Given the description of an element on the screen output the (x, y) to click on. 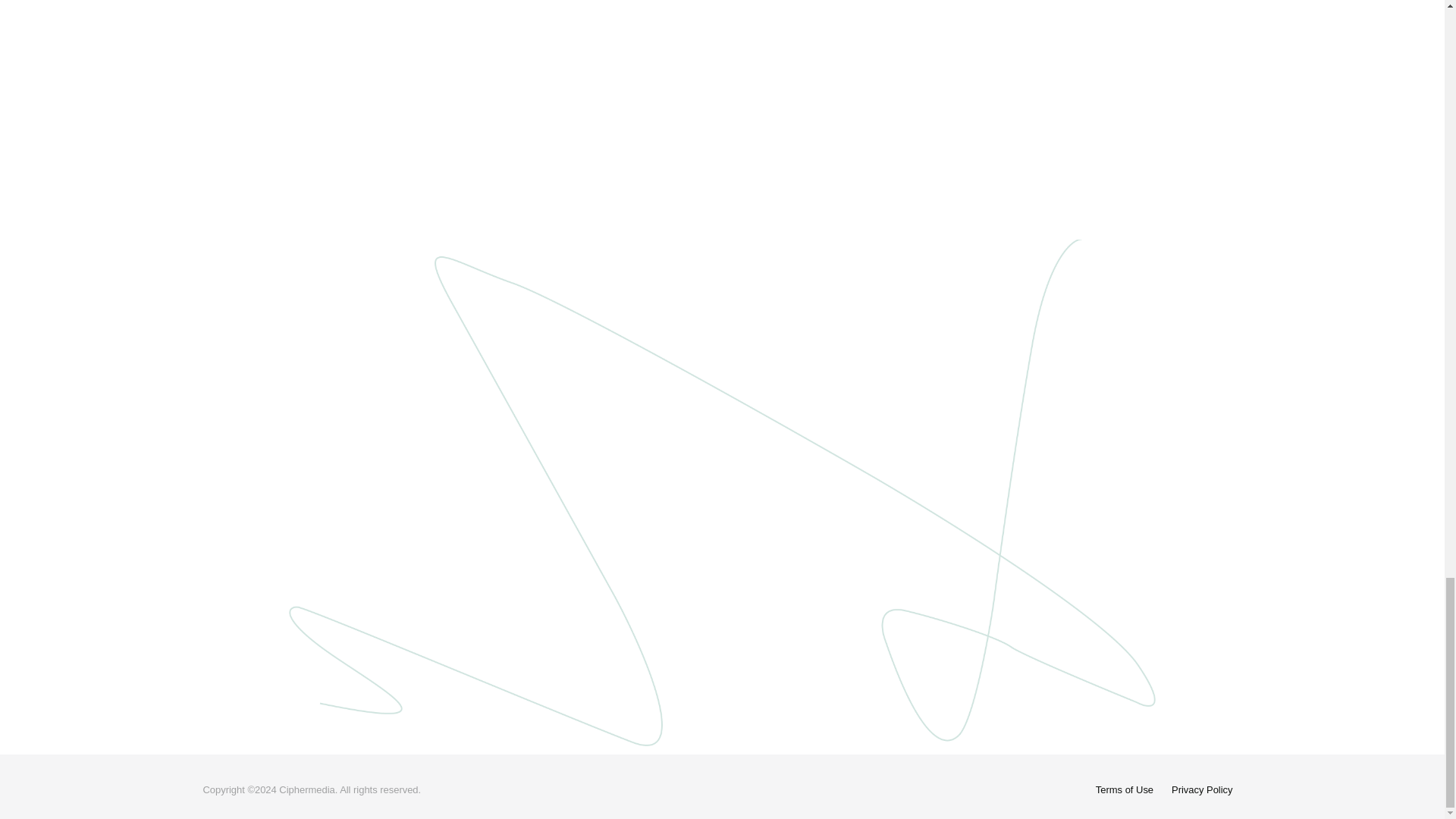
Privacy Policy (1201, 789)
Terms of Use (1124, 789)
